Given the description of an element on the screen output the (x, y) to click on. 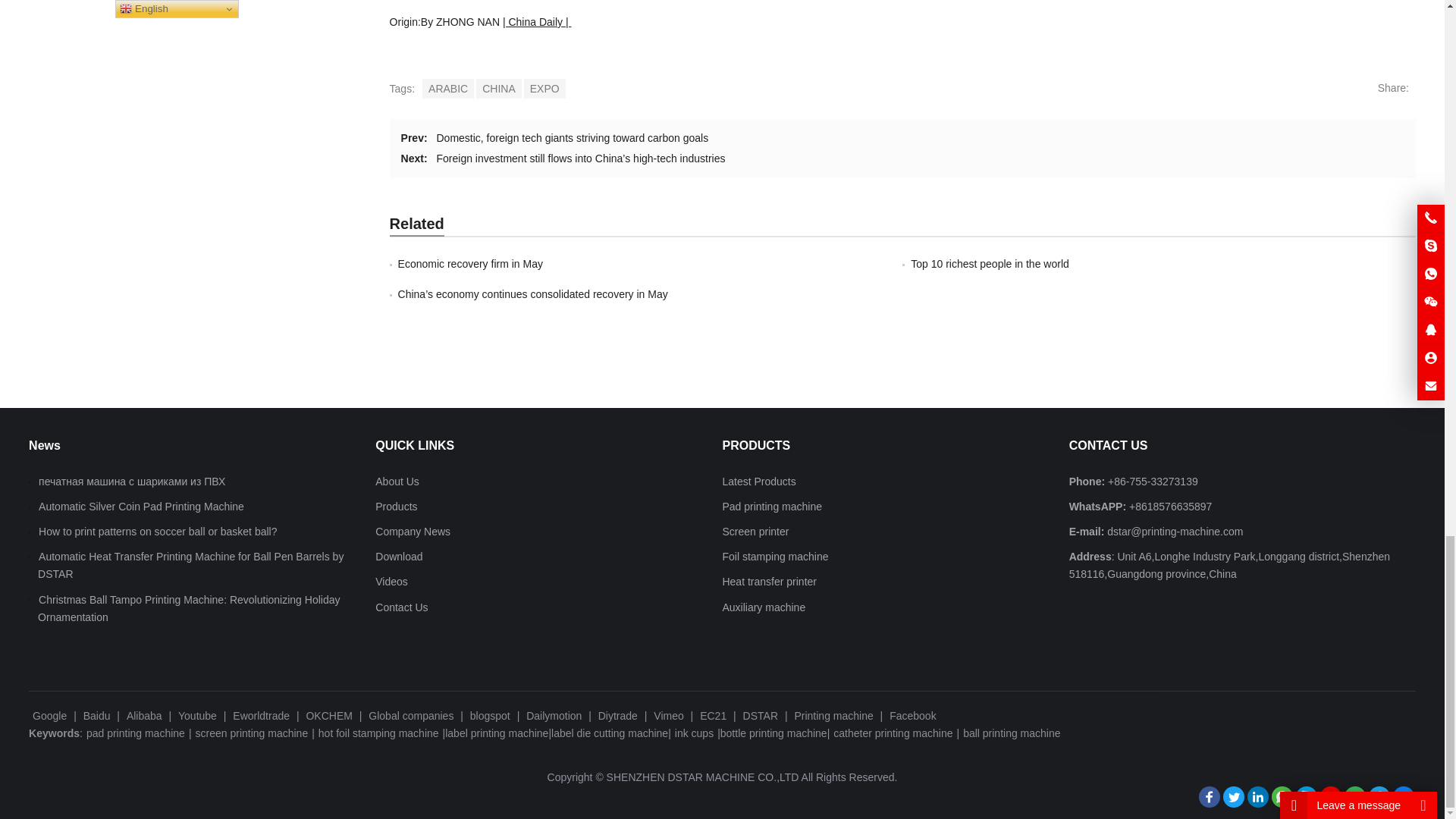
Top 10 richest people in the world (989, 263)
Economic recovery firm in May (470, 263)
